Given the description of an element on the screen output the (x, y) to click on. 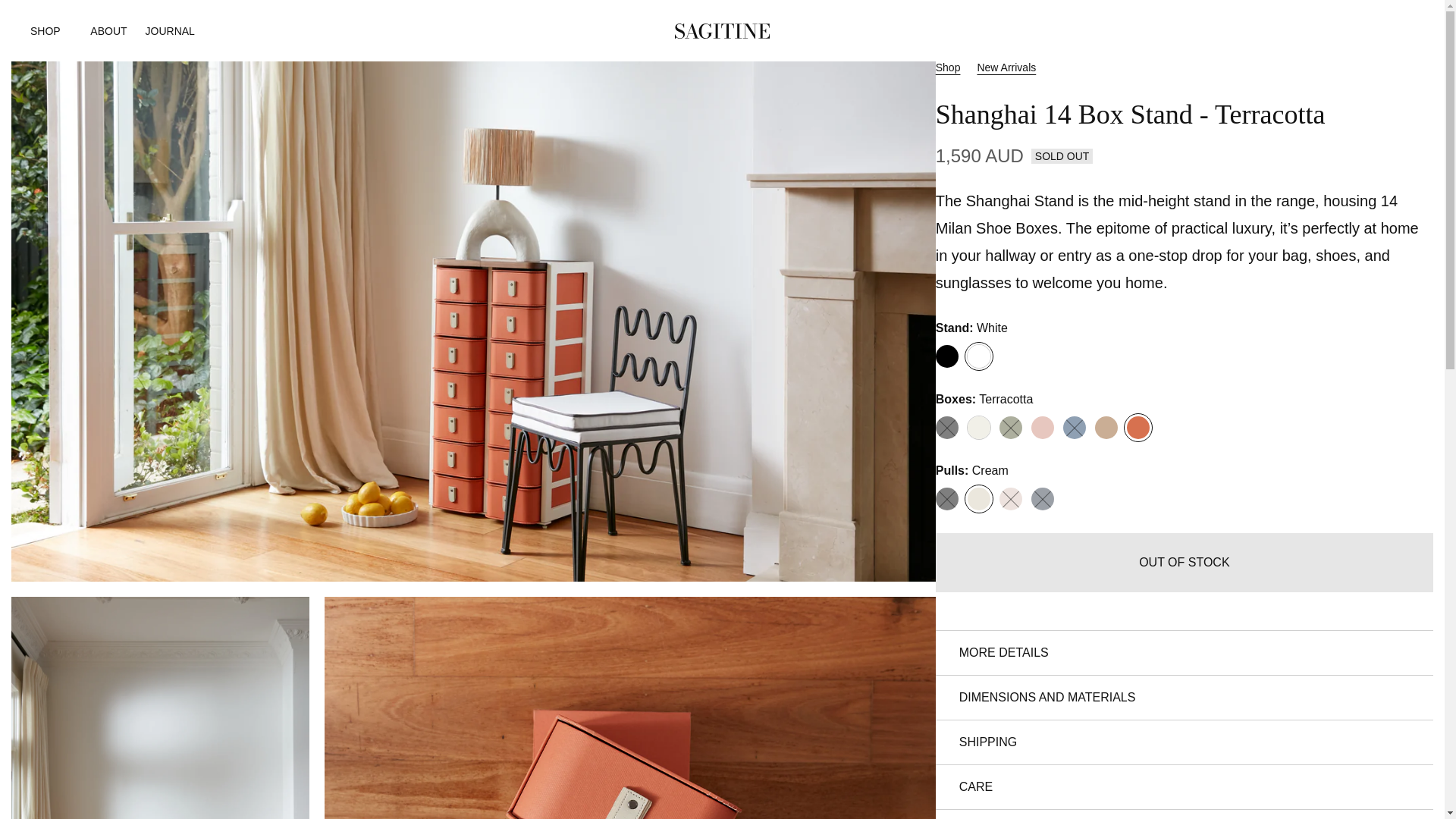
SHOP (50, 30)
ABOUT (108, 30)
JOURNAL (170, 30)
New Arrivals (1005, 67)
Shop (948, 67)
